Given the description of an element on the screen output the (x, y) to click on. 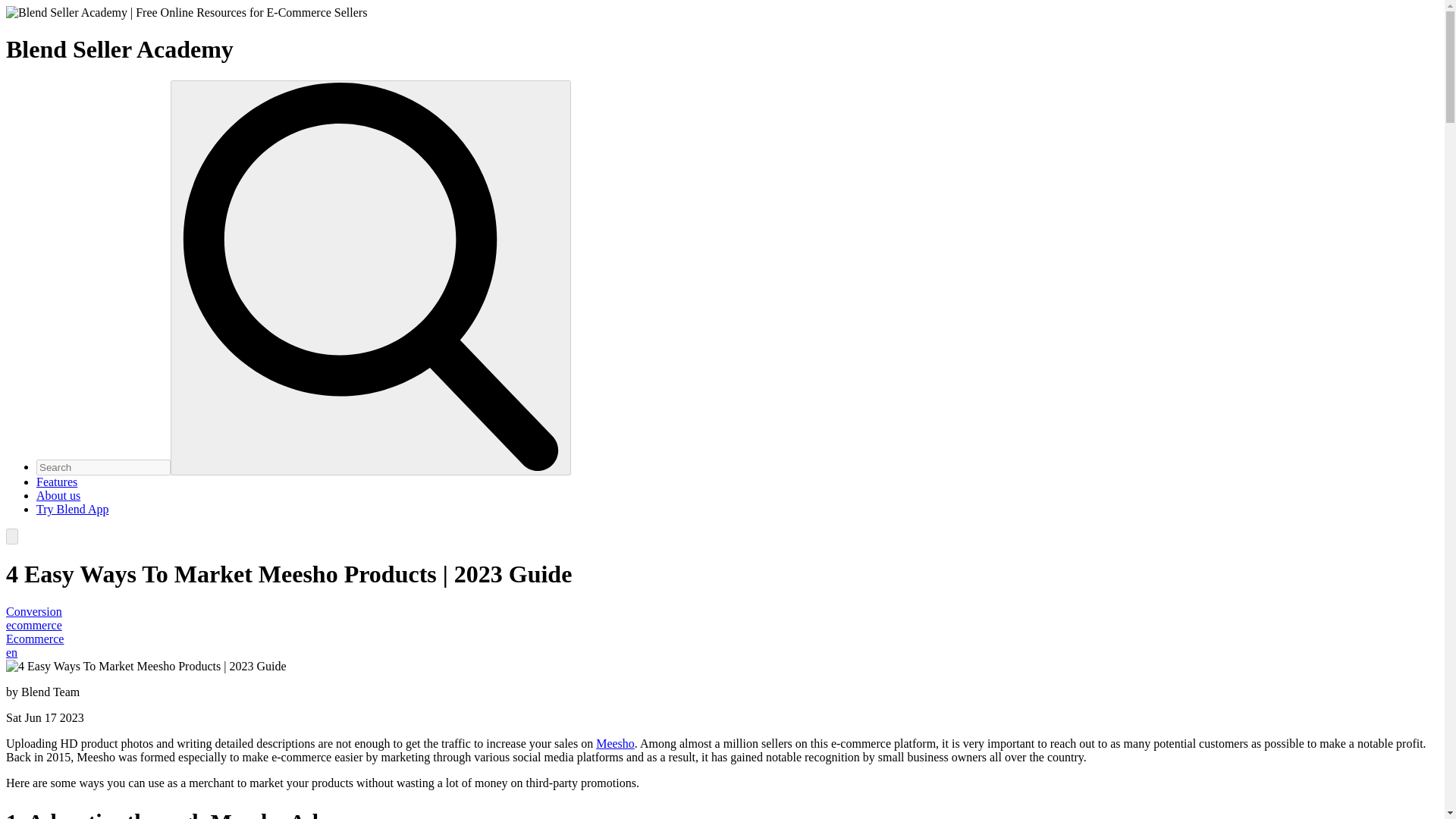
Meesho (614, 743)
ecommerce (33, 625)
Our product (56, 481)
Features (56, 481)
Sign up (71, 508)
Ecommerce (34, 638)
About us (58, 495)
Conversion (33, 611)
About us (58, 495)
Try Blend App (71, 508)
